Given the description of an element on the screen output the (x, y) to click on. 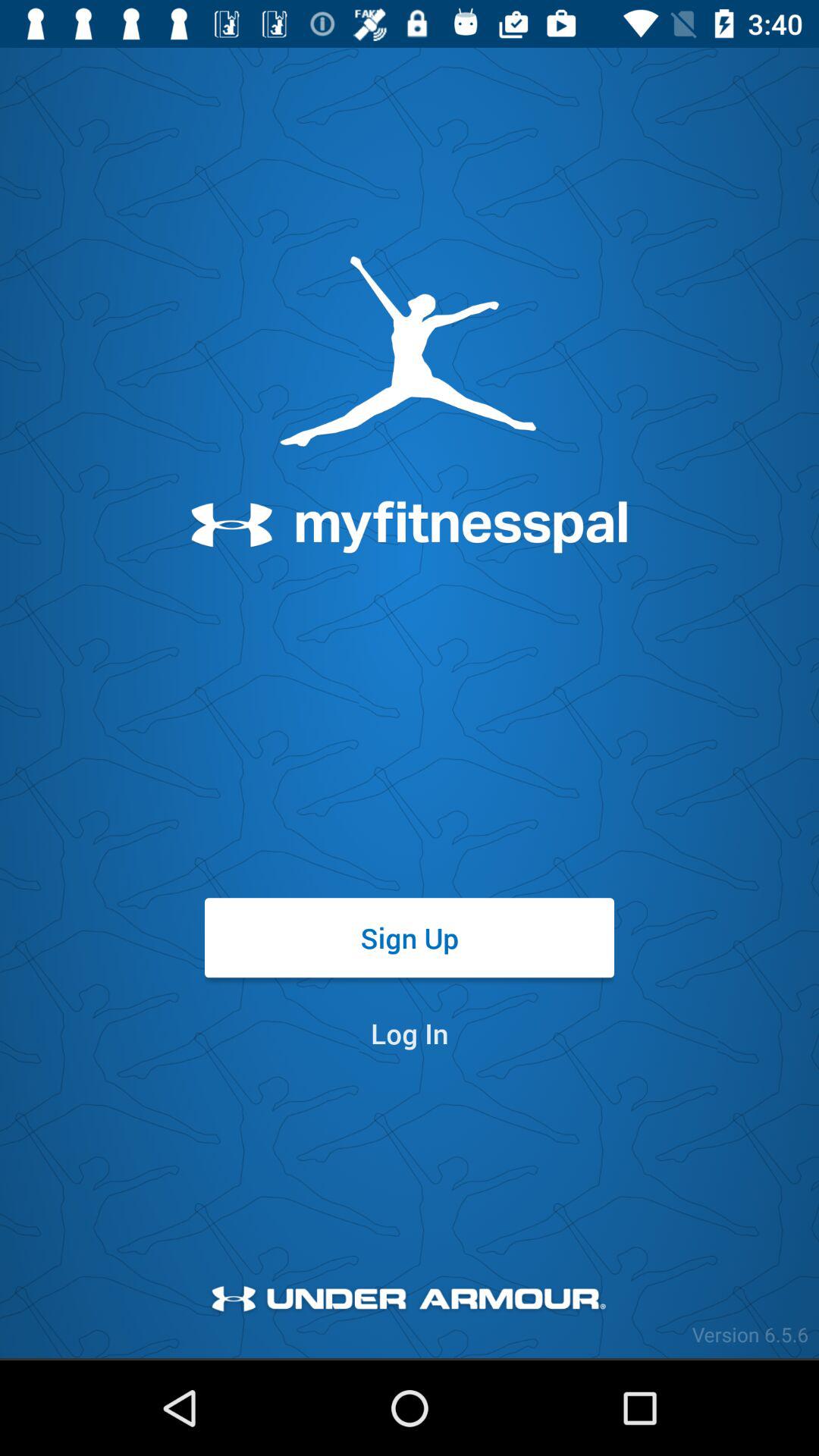
swipe until the log in item (409, 1033)
